Given the description of an element on the screen output the (x, y) to click on. 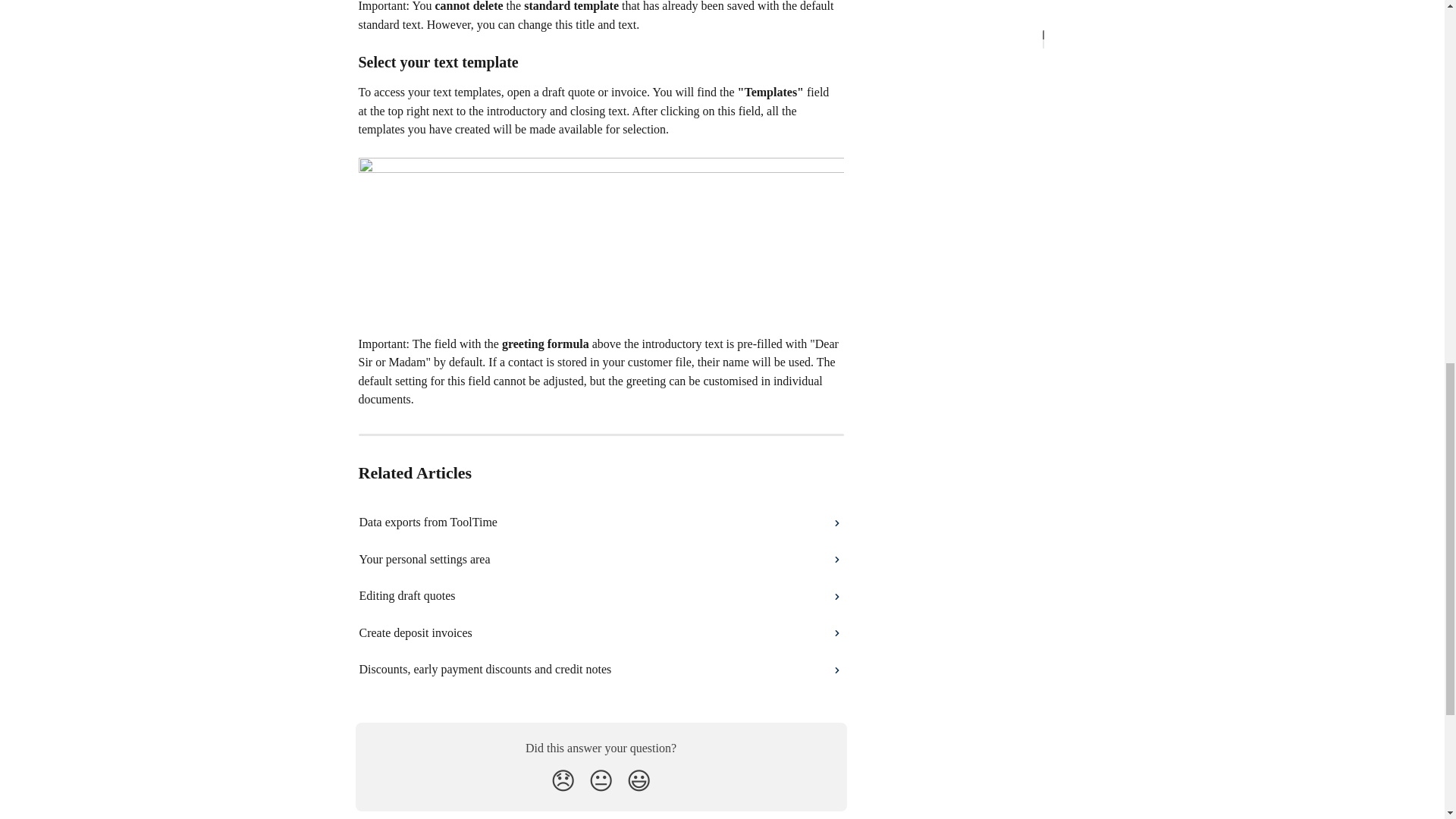
Disappointed (562, 780)
Data exports from ToolTime (600, 522)
Smiley (638, 780)
Create deposit invoices (600, 633)
Neutral (600, 780)
Discounts, early payment discounts and credit notes (600, 669)
Your personal settings area (600, 559)
Editing draft quotes (600, 596)
